Given the description of an element on the screen output the (x, y) to click on. 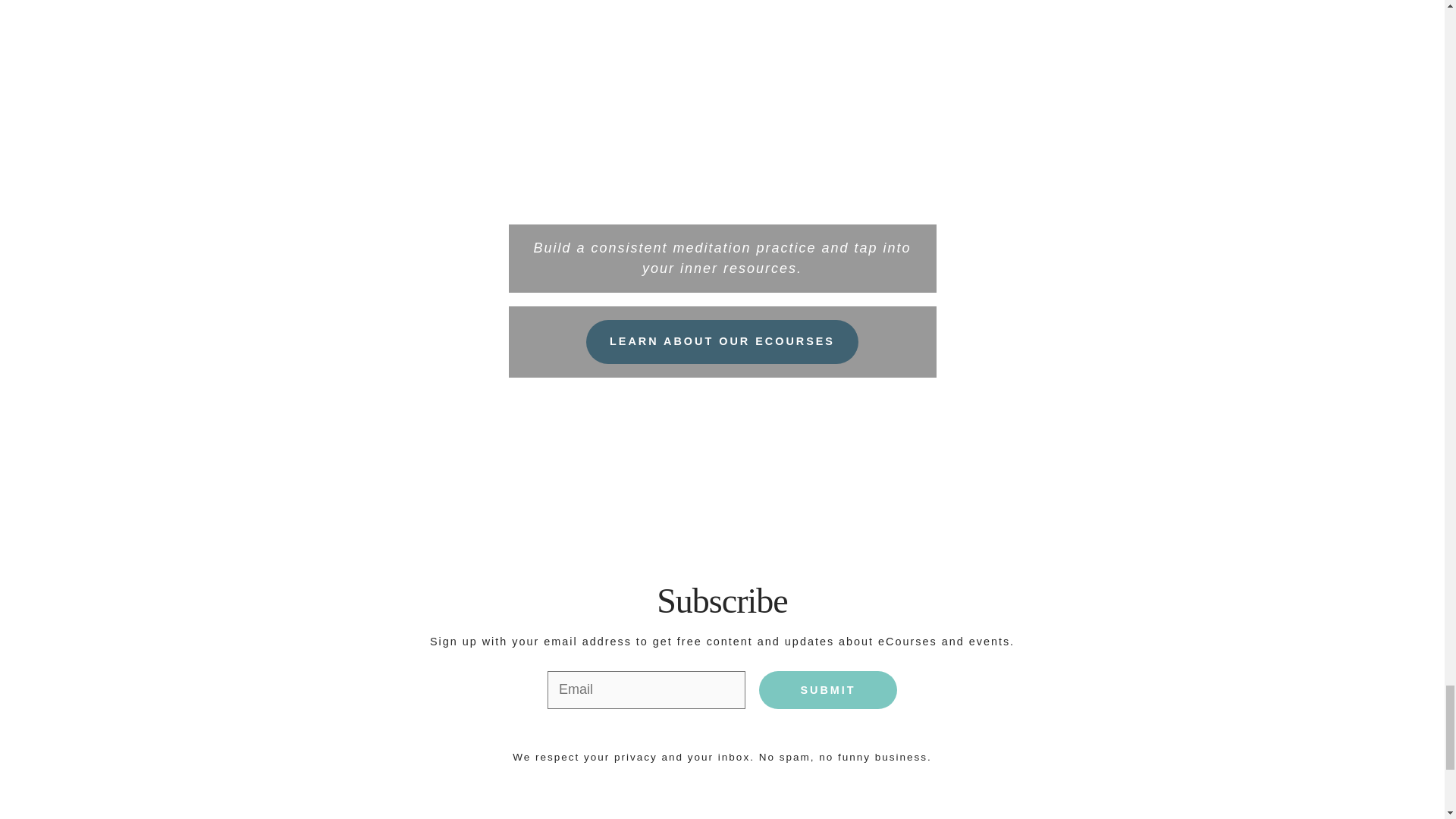
Submit (827, 689)
LEARN ABOUT OUR ECOURSES (722, 340)
Submit (827, 689)
